Given the description of an element on the screen output the (x, y) to click on. 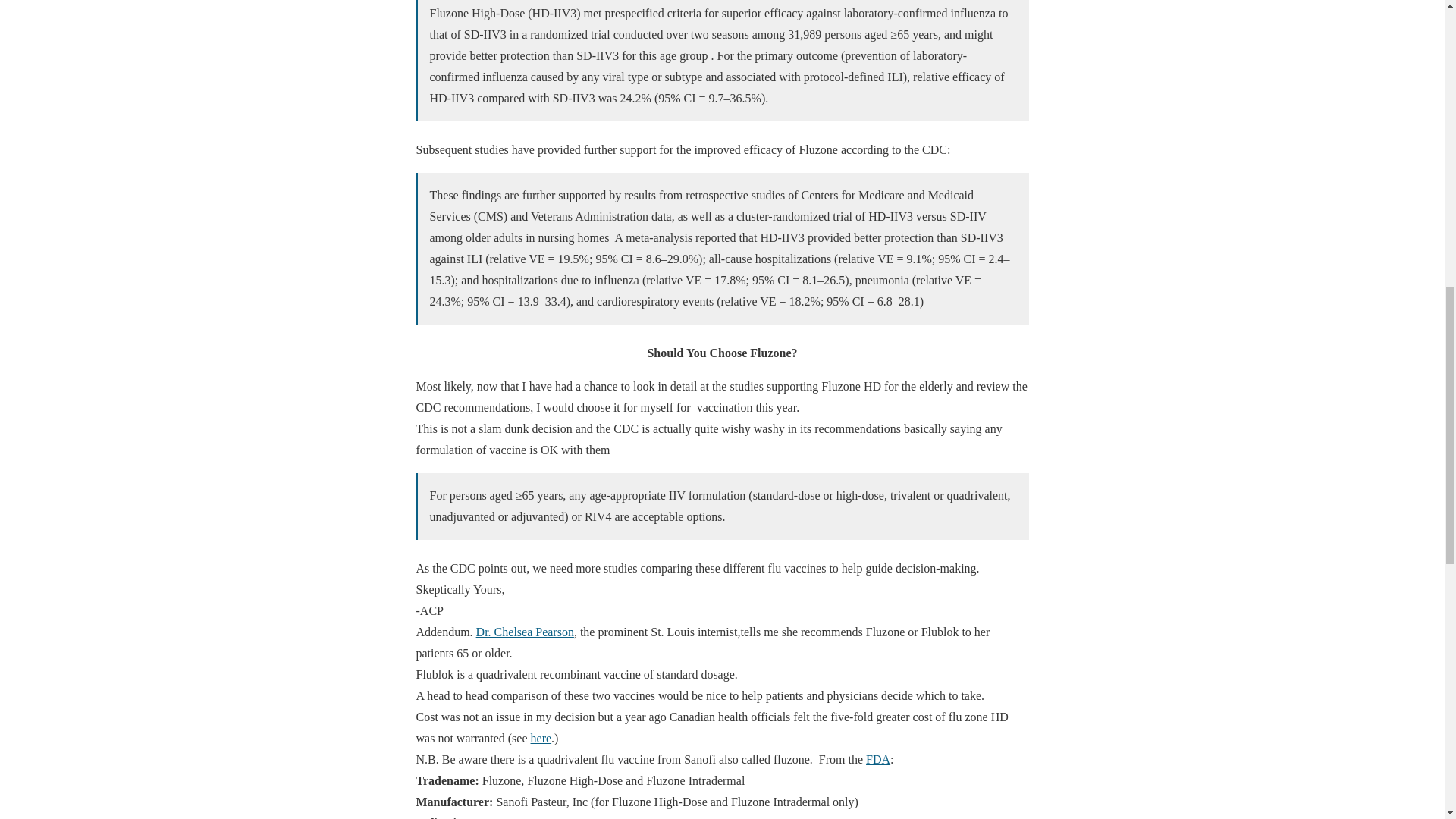
Dr. Chelsea Pearson (524, 631)
here (541, 738)
FDA (877, 758)
